Given the description of an element on the screen output the (x, y) to click on. 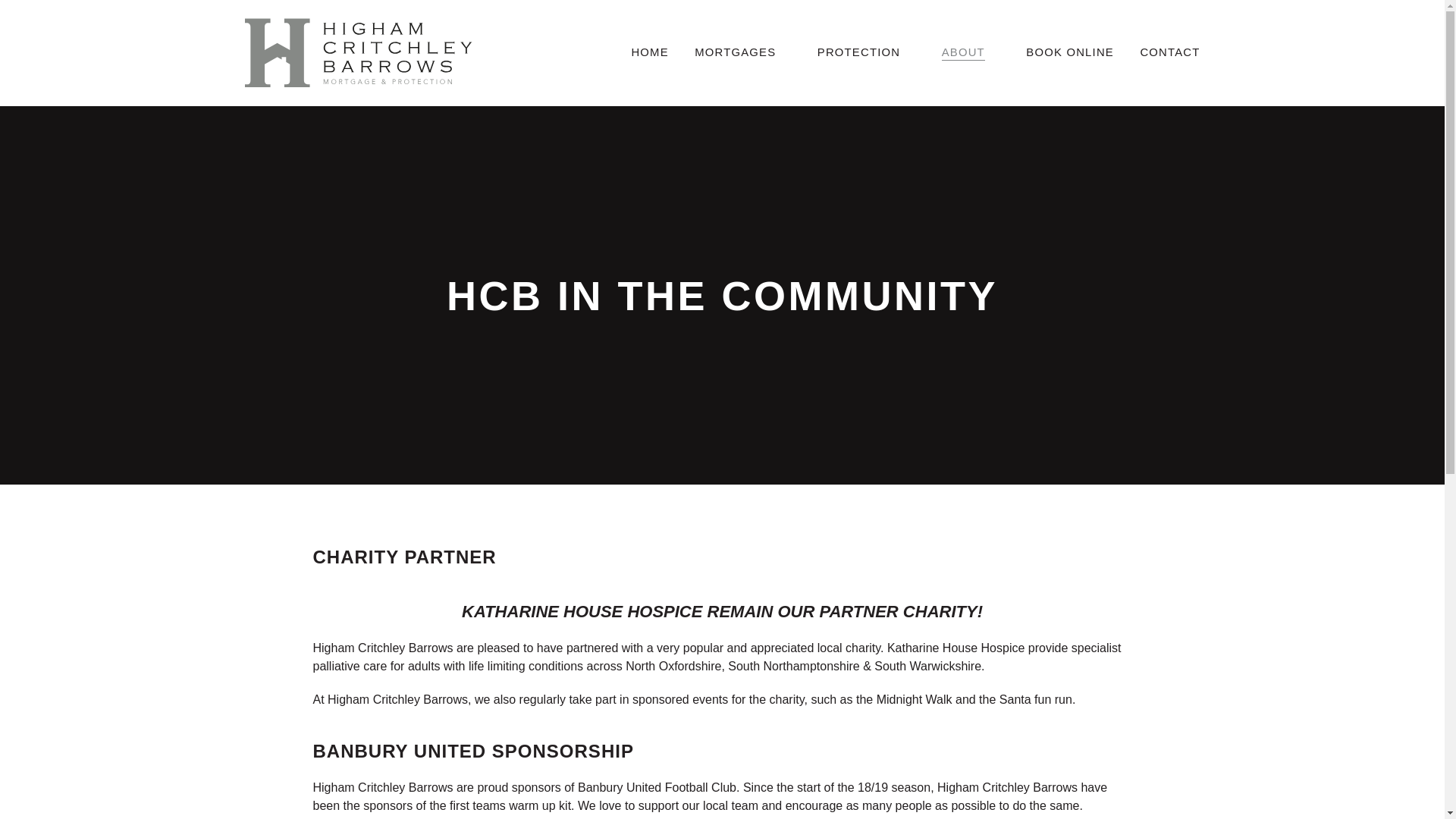
HOME (649, 52)
CONTACT (1169, 52)
ABOUT (963, 52)
BOOK ONLINE (1069, 52)
MORTGAGES (735, 52)
PROTECTION (857, 52)
